Given the description of an element on the screen output the (x, y) to click on. 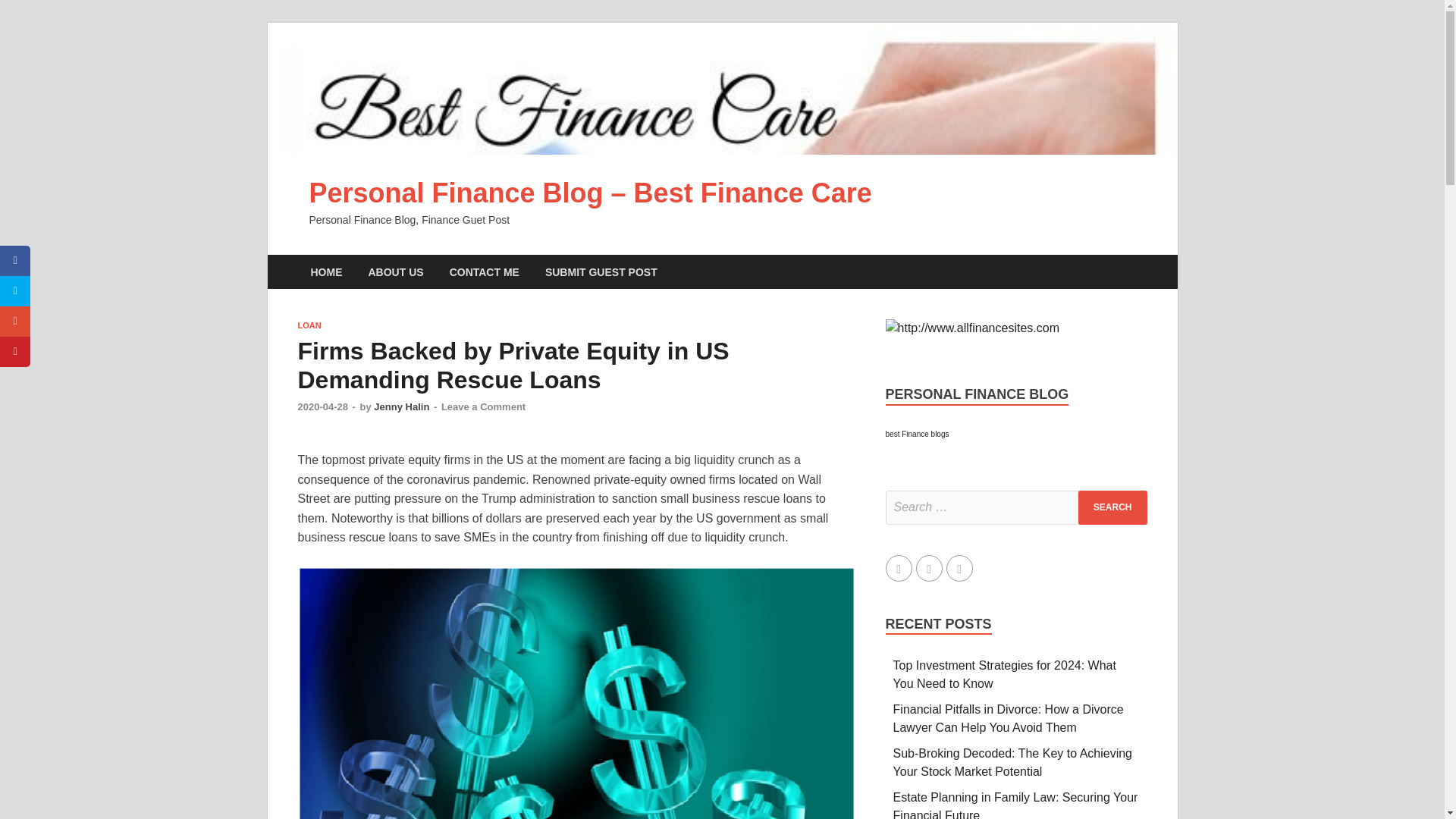
Jenny Halin (401, 406)
LOAN (308, 325)
best Finance blogs (917, 433)
Top Investment Strategies for 2024: What You Need to Know (1004, 674)
2020-04-28 (322, 406)
CONTACT ME (484, 271)
ABOUT US (395, 271)
Search (1112, 507)
Search (1112, 507)
SUBMIT GUEST POST (600, 271)
HOME (326, 271)
Leave a Comment (483, 406)
